Given the description of an element on the screen output the (x, y) to click on. 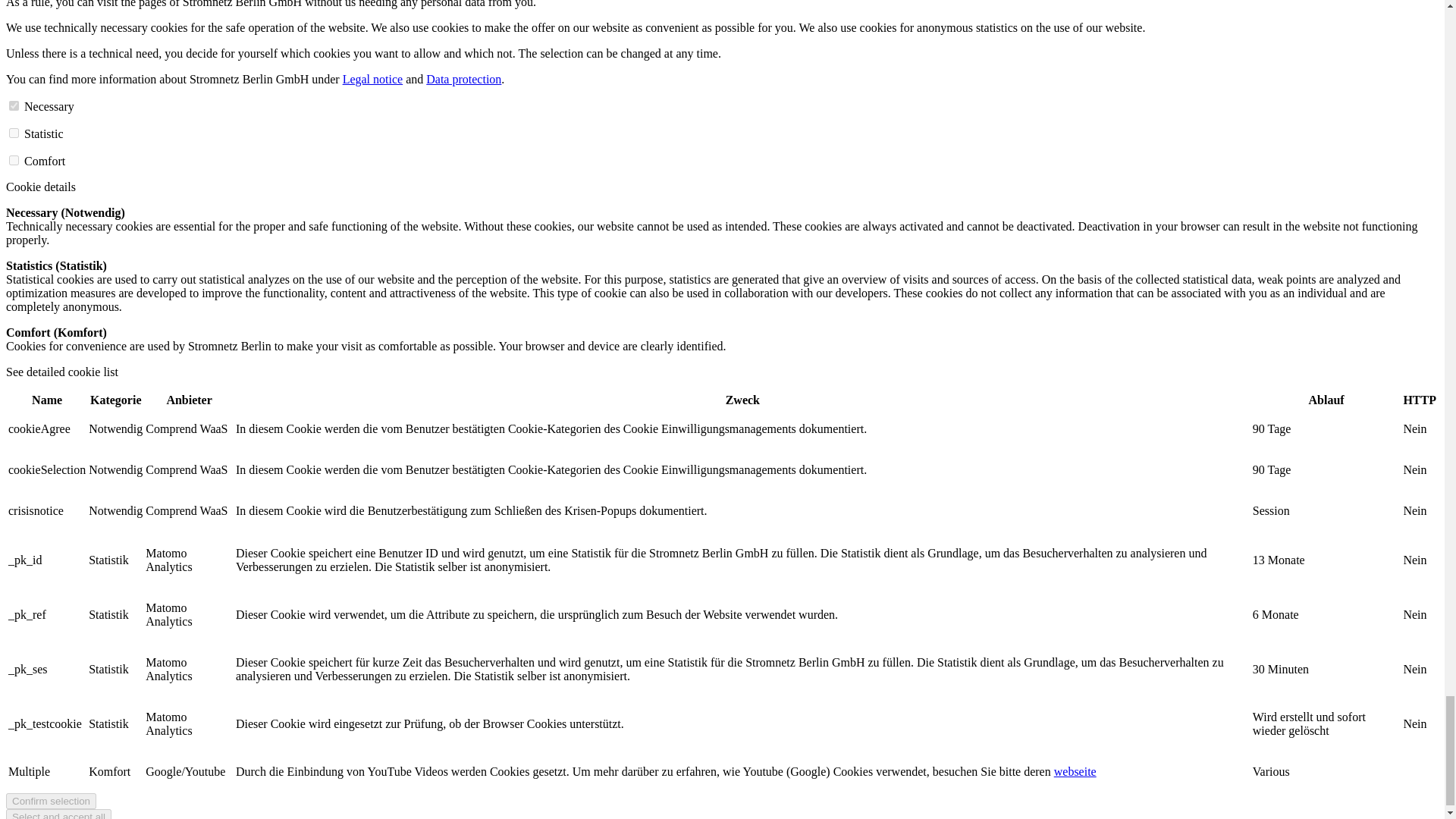
stats (13, 132)
stats (13, 160)
required (13, 105)
